Given the description of an element on the screen output the (x, y) to click on. 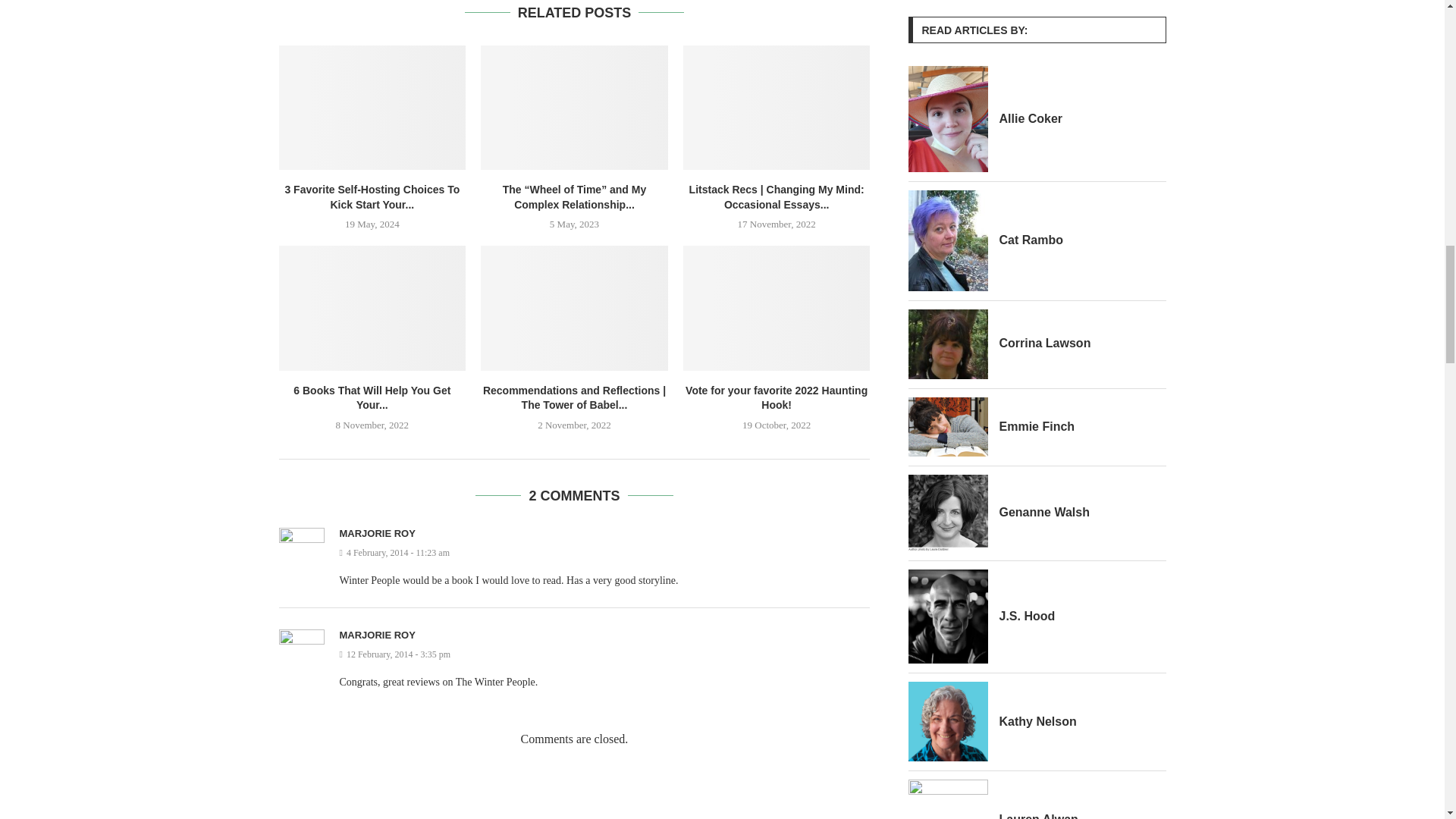
Vote for your favorite 2022 Haunting Hook! (776, 307)
Wednesday, February 12, 2014, 3:35 pm (604, 654)
3 Favorite Self-Hosting Choices To Kick Start Your Website (372, 107)
Tuesday, February 4, 2014, 11:23 am (604, 552)
